Given the description of an element on the screen output the (x, y) to click on. 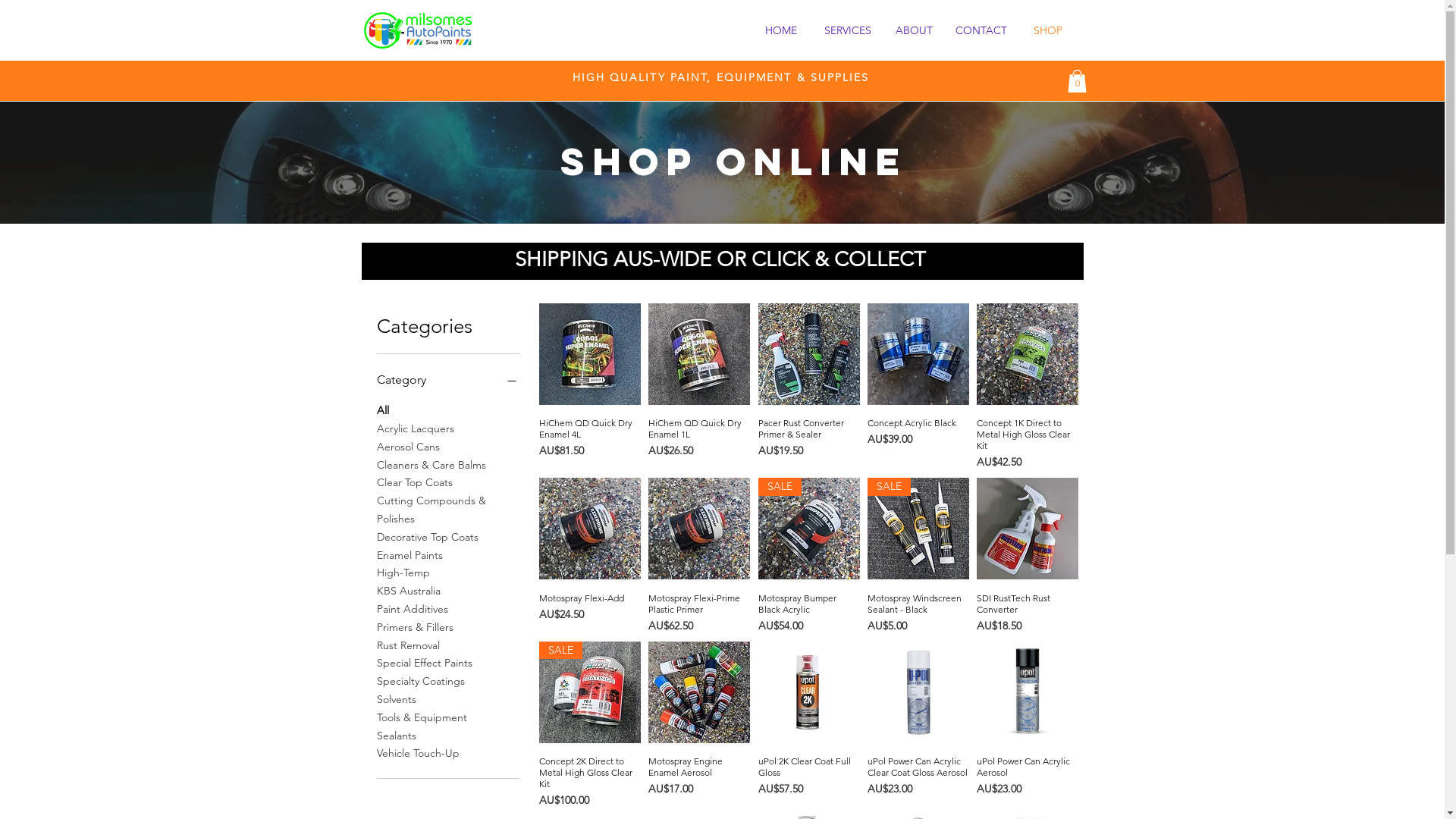
Motospray Windscreen Sealant - Black
Price
AU$5.00 Element type: text (918, 612)
Motospray Bumper Black Acrylic
Price
AU$54.00 Element type: text (808, 612)
SHOP Element type: text (1047, 30)
uPol 2K Clear Coat Full Gloss
Price
AU$57.50 Element type: text (808, 781)
CONTACT Element type: text (980, 30)
SERVICES Element type: text (847, 30)
SALE Element type: text (918, 528)
Category Element type: text (447, 379)
ABOUT Element type: text (914, 30)
Concept Acrylic Black
Price
AU$39.00 Element type: text (918, 443)
Motospray Flexi-Add
Price
AU$24.50 Element type: text (589, 612)
0 Element type: text (1076, 80)
uPol Power Can Acrylic Aerosol
Price
AU$23.00 Element type: text (1027, 781)
Pacer Rust Converter Primer & Sealer
Price
AU$19.50 Element type: text (808, 443)
HOME Element type: text (780, 30)
SALE Element type: text (589, 692)
SDI RustTech Rust Converter
Price
AU$18.50 Element type: text (1027, 612)
Motospray Flexi-Prime Plastic Primer
Price
AU$62.50 Element type: text (698, 612)
HiChem QD Quick Dry Enamel 4L
Price
AU$81.50 Element type: text (589, 443)
SALE Element type: text (808, 528)
HiChem QD Quick Dry Enamel 1L
Price
AU$26.50 Element type: text (698, 443)
Motospray Engine Enamel Aerosol
Price
AU$17.00 Element type: text (698, 781)
